Given the description of an element on the screen output the (x, y) to click on. 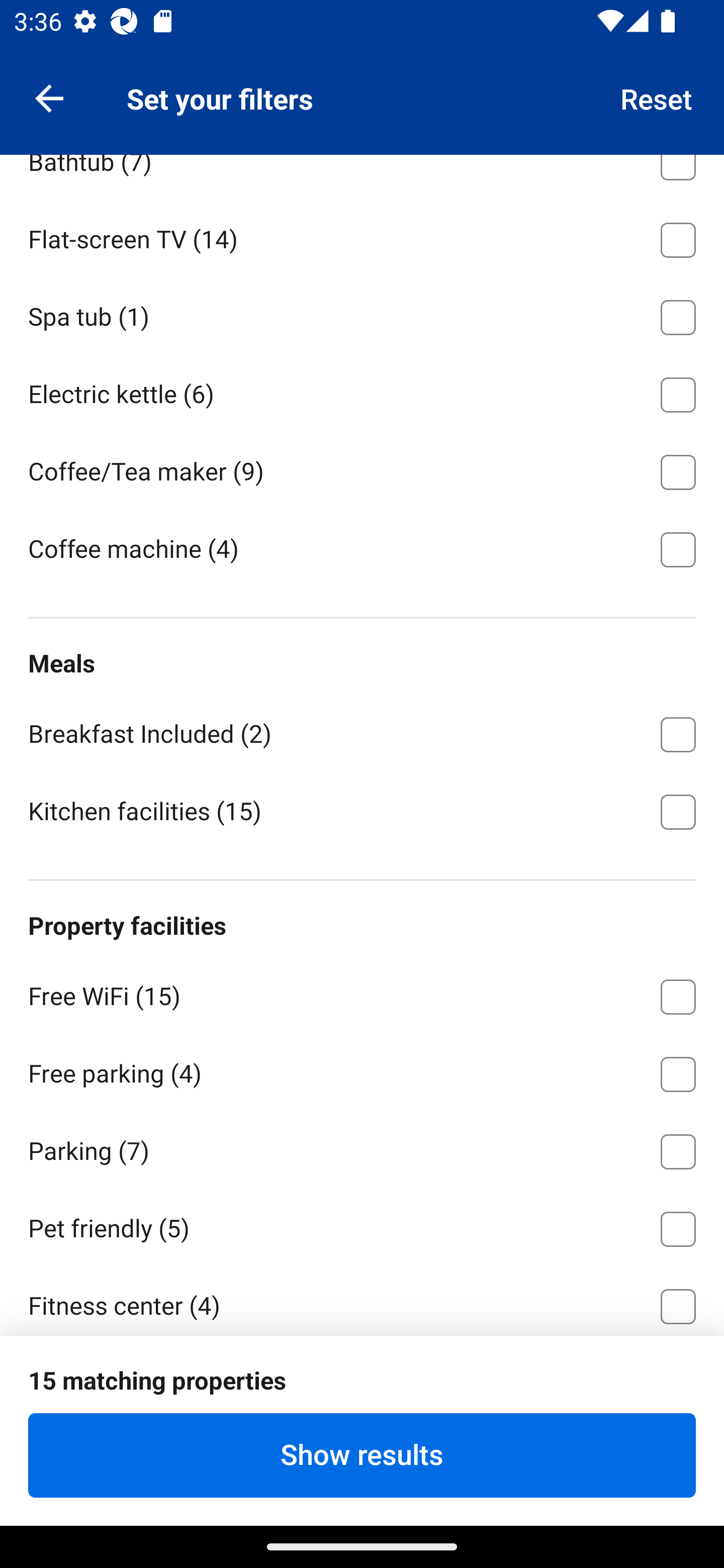
View ⁦(11) (361, 81)
Navigate up (49, 97)
Reset (656, 97)
Bathtub ⁦(7) (361, 176)
Flat-screen TV ⁦(14) (361, 236)
Spa tub ⁦(1) (361, 313)
Electric kettle ⁦(6) (361, 390)
Coffee/Tea maker ⁦(9) (361, 468)
Coffee machine ⁦(4) (361, 548)
Breakfast Included ⁦(2) (361, 731)
Kitchen facilities ⁦(15) (361, 810)
Free WiFi ⁦(15) (361, 992)
Free parking ⁦(4) (361, 1070)
Parking ⁦(7) (361, 1148)
Pet friendly ⁦(5) (361, 1224)
Fitness center ⁦(4) (361, 1299)
Show results (361, 1454)
